Given the description of an element on the screen output the (x, y) to click on. 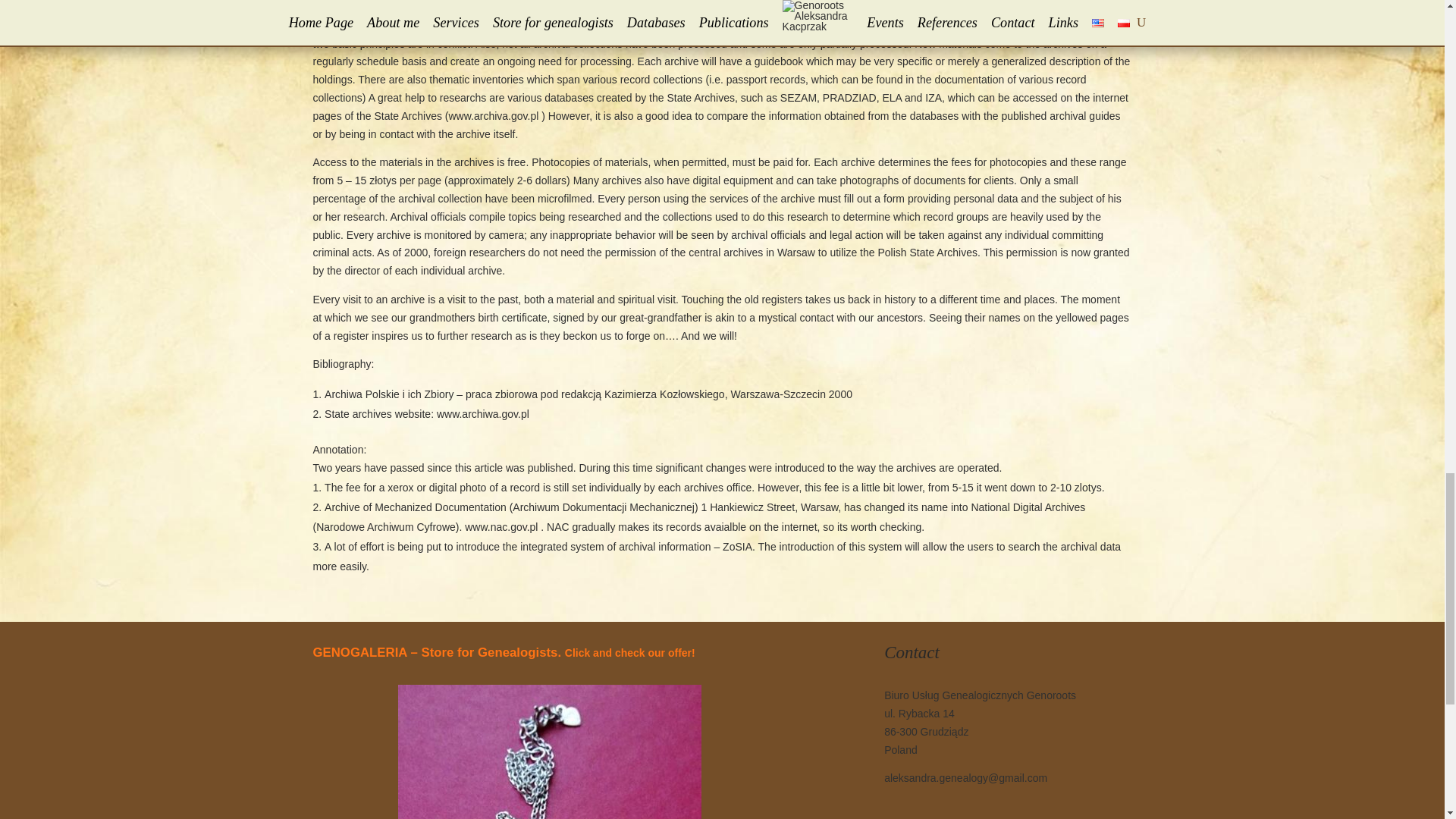
Click and check our offer! (629, 653)
